Given the description of an element on the screen output the (x, y) to click on. 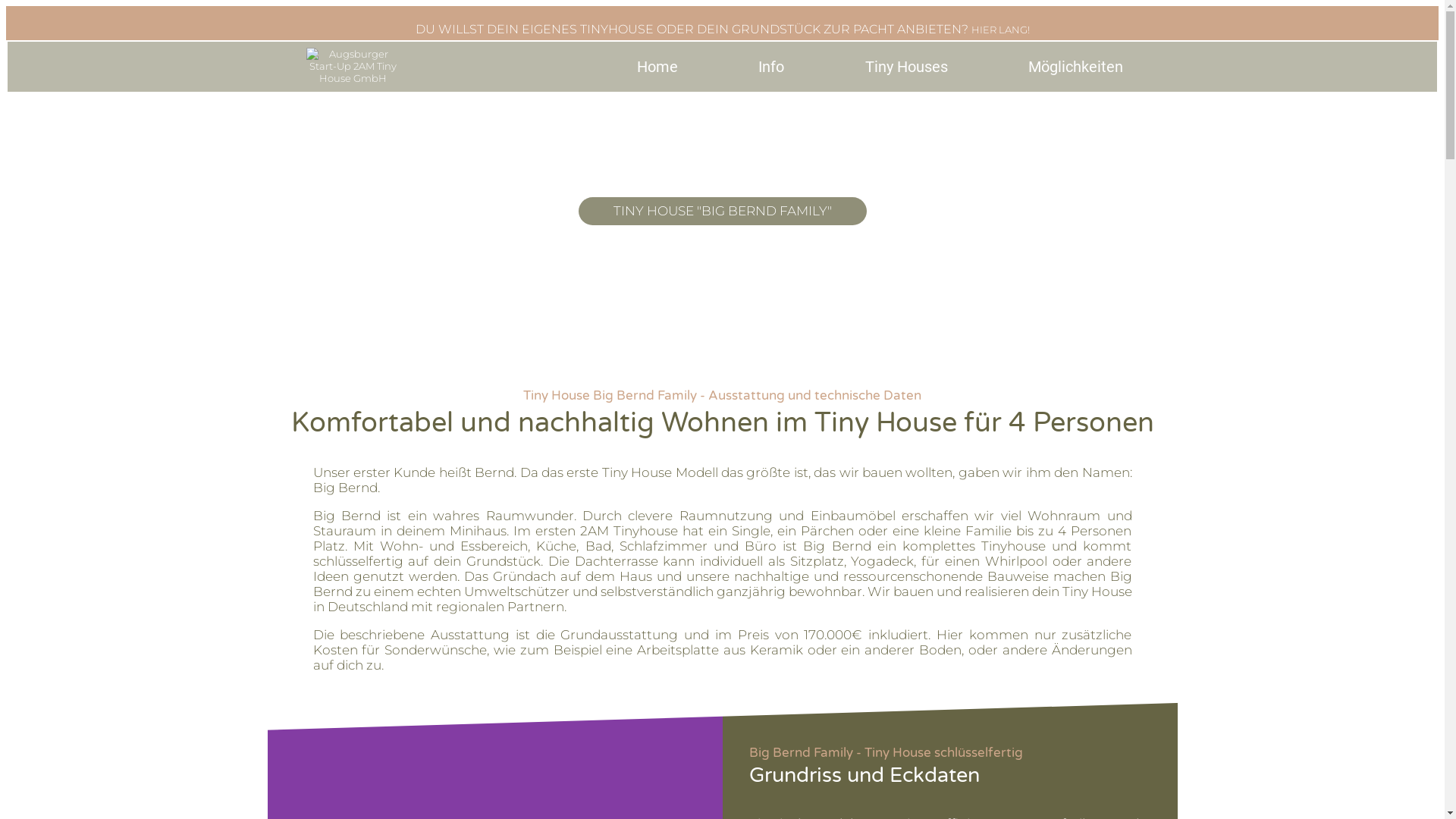
Info Element type: text (771, 66)
Home Element type: text (657, 66)
Tiny Houses Element type: text (906, 66)
HIER LANG! Element type: text (999, 29)
